Given the description of an element on the screen output the (x, y) to click on. 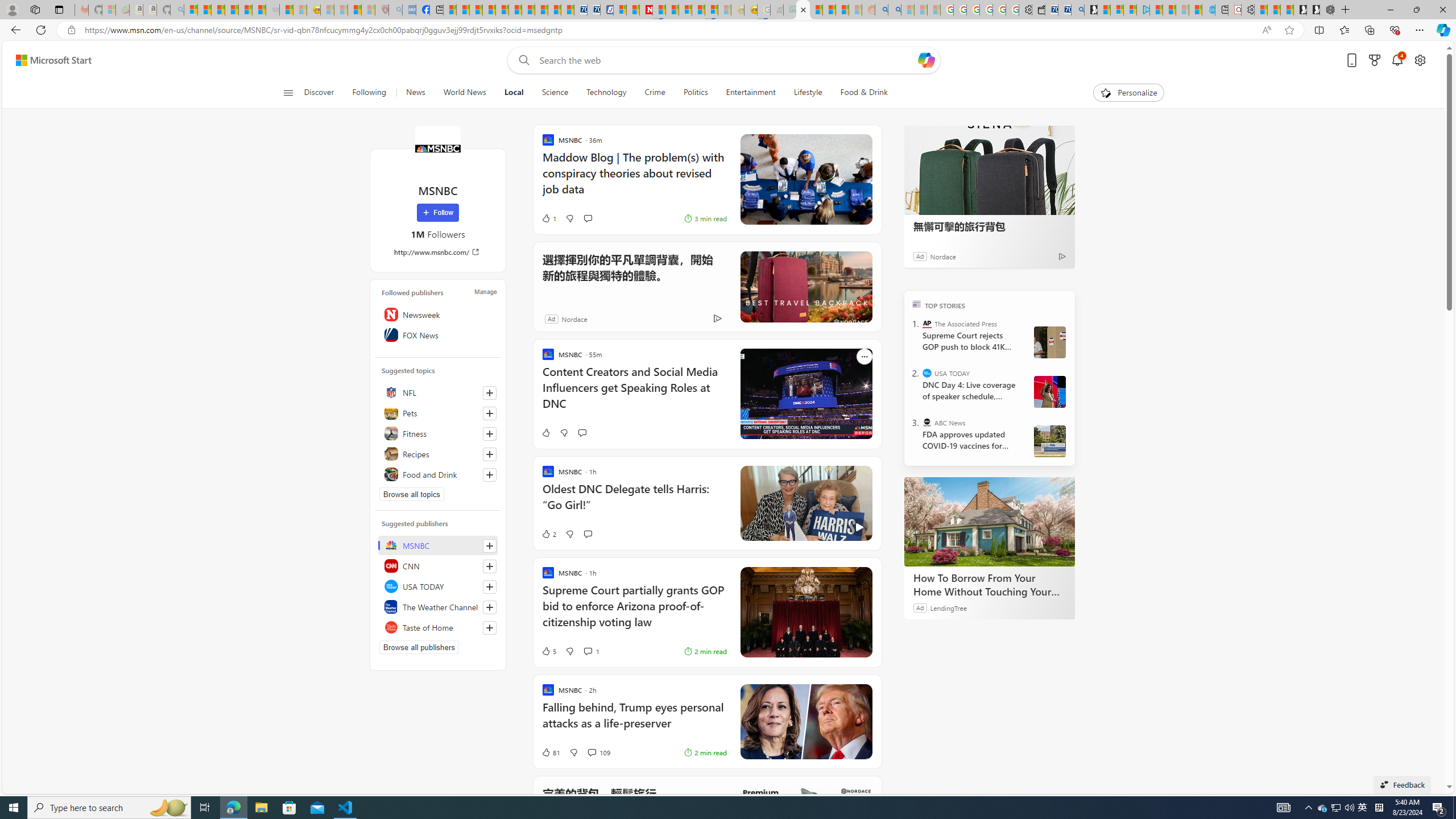
5 Like (547, 650)
View comments 109 Comment (598, 752)
